Given the description of an element on the screen output the (x, y) to click on. 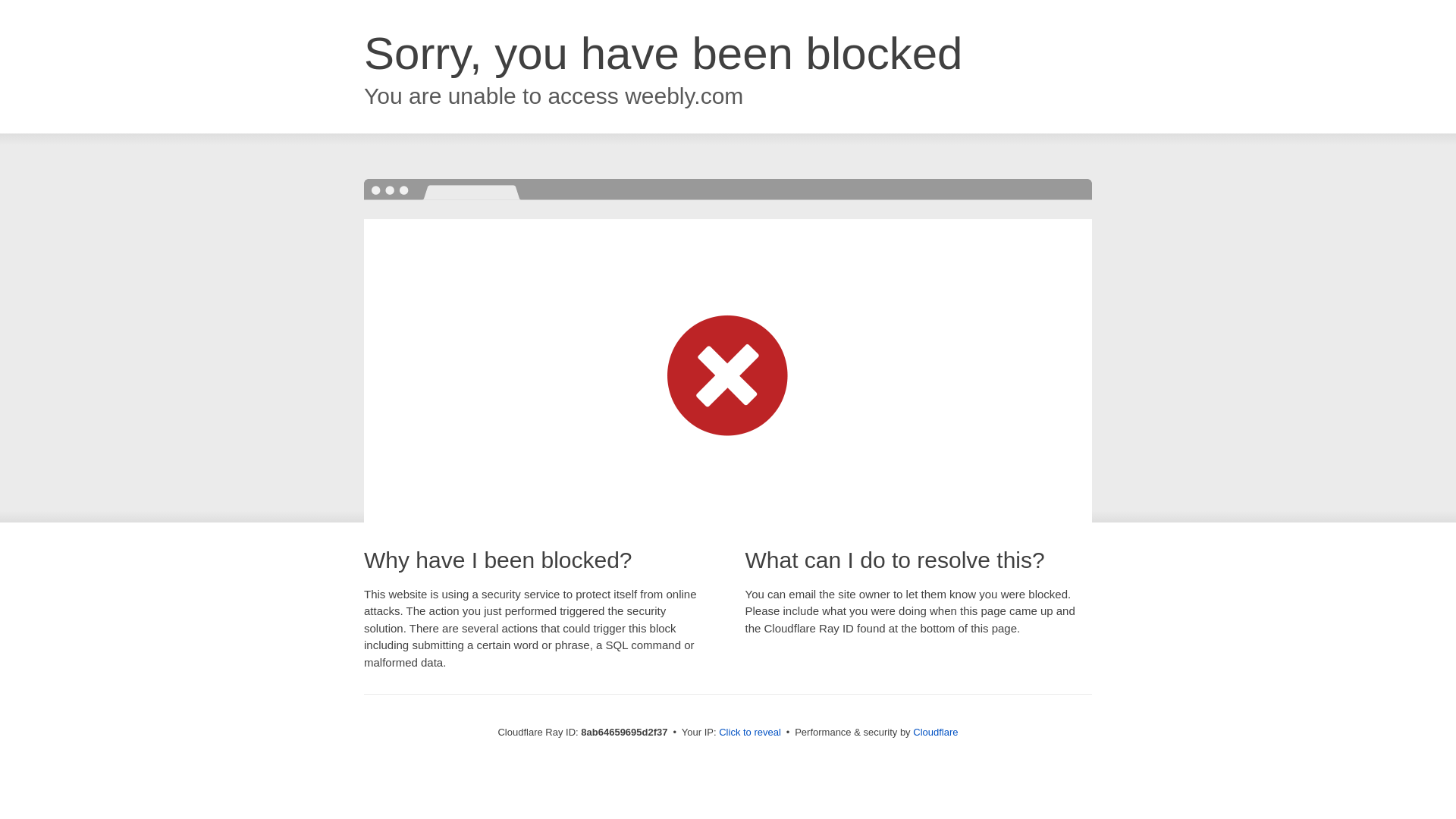
Click to reveal (749, 732)
Cloudflare (935, 731)
